Given the description of an element on the screen output the (x, y) to click on. 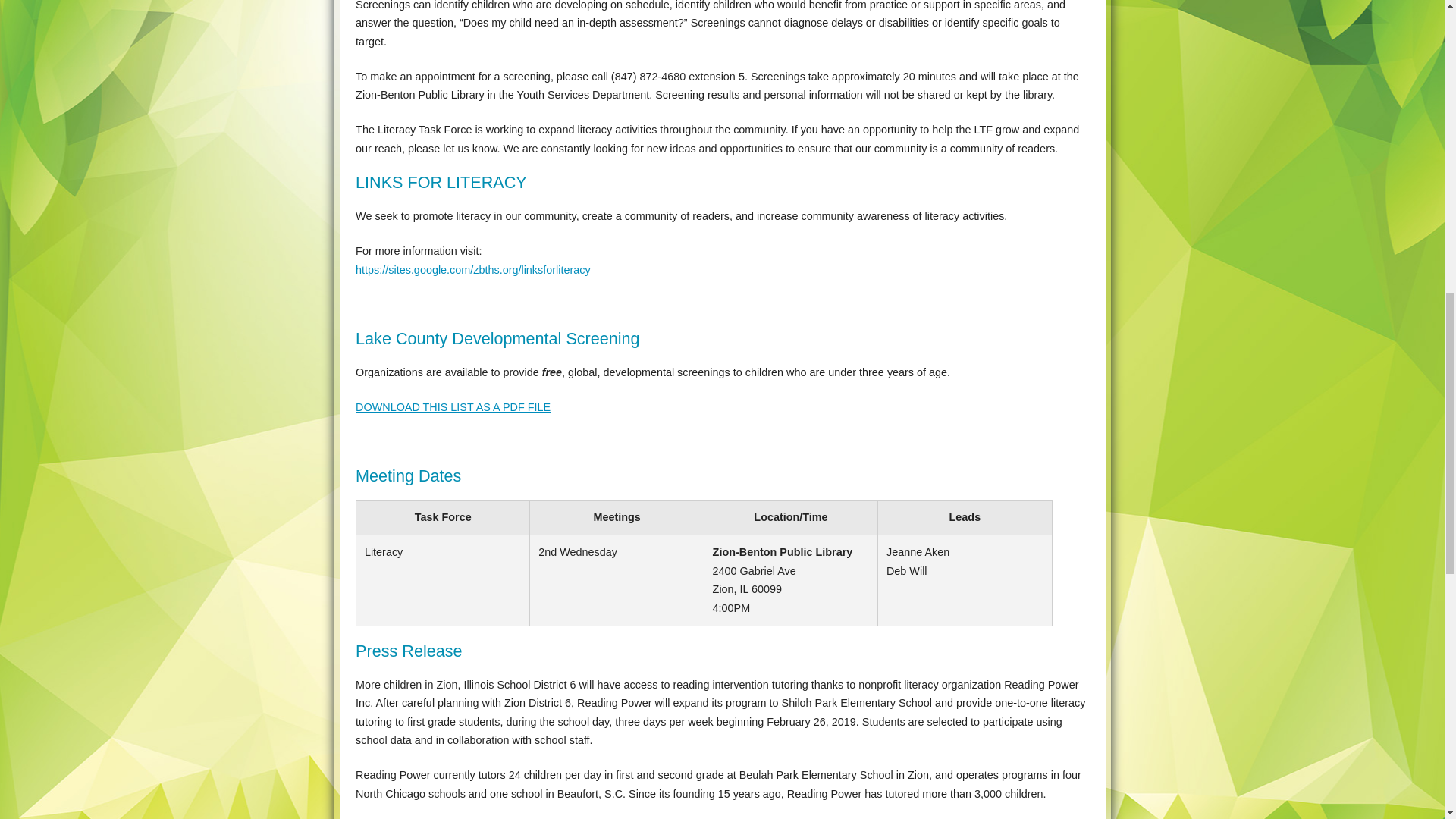
DOWNLOAD THIS LIST AS A PDF FILE (452, 407)
